Given the description of an element on the screen output the (x, y) to click on. 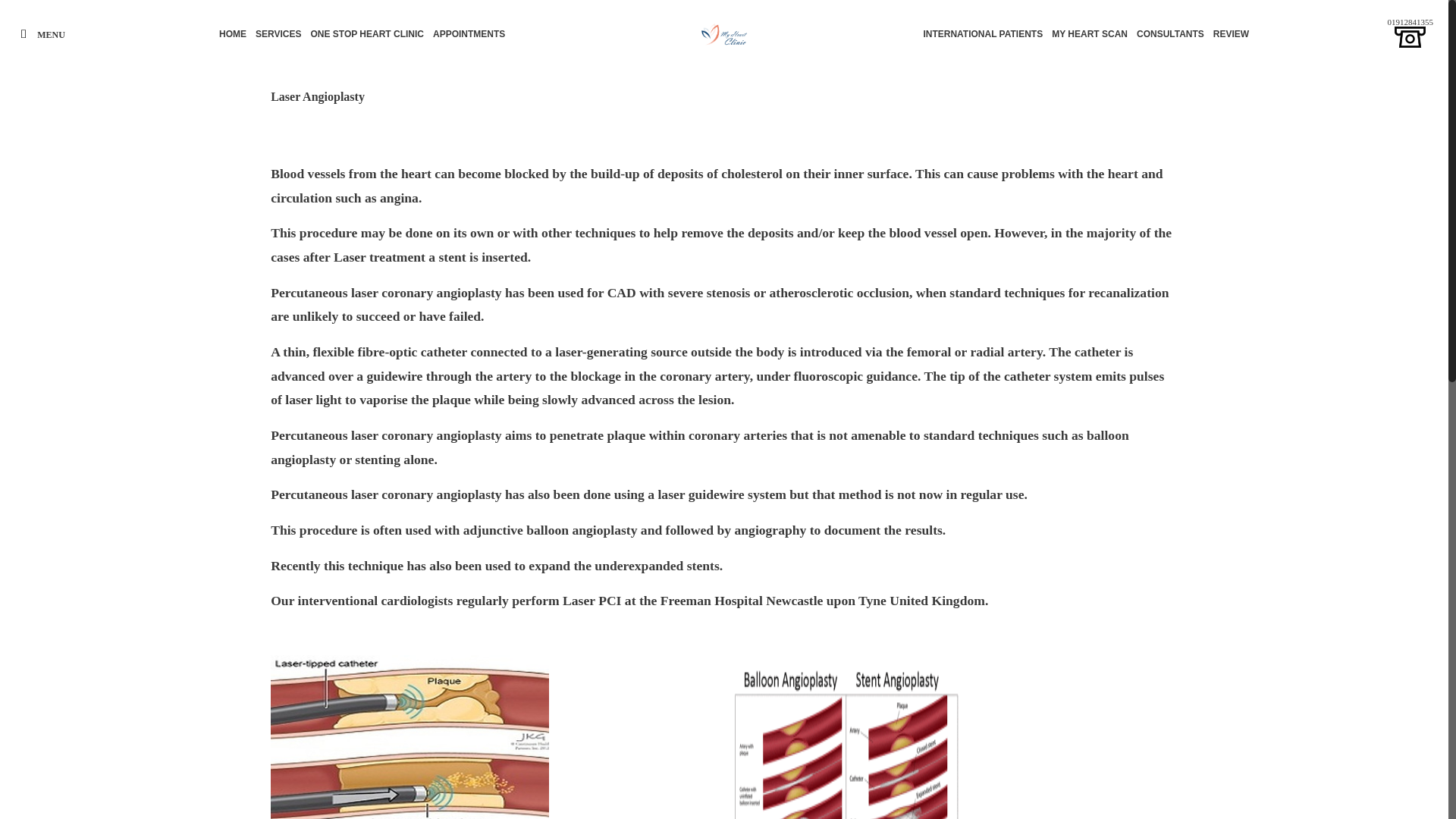
APPOINTMENTS (468, 33)
MY HEART SCAN (1089, 33)
CONSULTANTS (1170, 33)
INTERNATIONAL PATIENTS (982, 33)
ONE STOP HEART CLINIC (366, 33)
MENU (39, 33)
MyHeartClinic (724, 33)
